Given the description of an element on the screen output the (x, y) to click on. 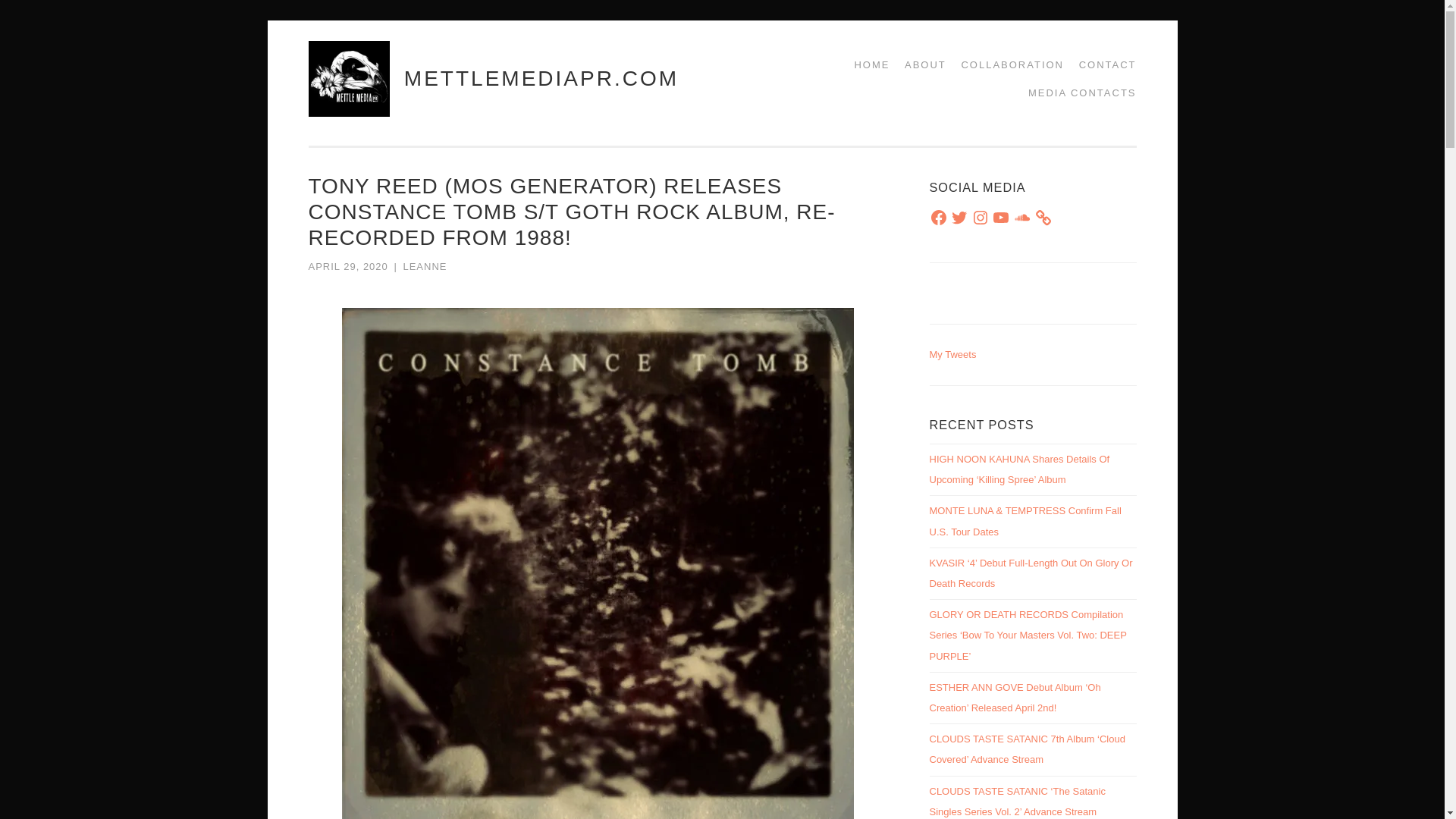
APRIL 29, 2020 (347, 266)
ABOUT (919, 64)
METTLEMEDIAPR.COM (541, 78)
COLLABORATION (1007, 64)
LEANNE (424, 266)
HOME (866, 64)
CONTACT (1102, 64)
MEDIA CONTACTS (1077, 92)
